Given the description of an element on the screen output the (x, y) to click on. 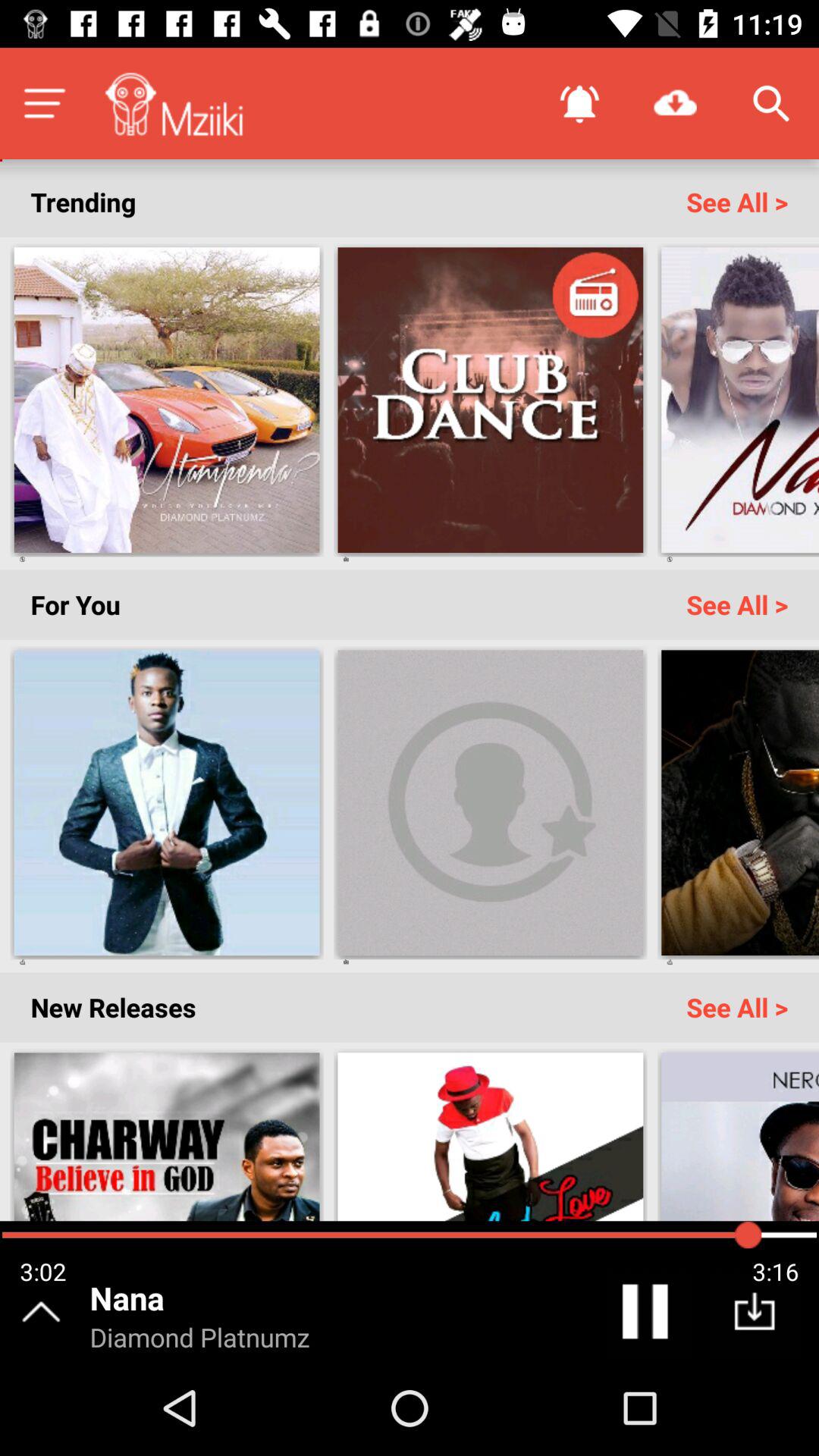
select the menu (44, 103)
